Given the description of an element on the screen output the (x, y) to click on. 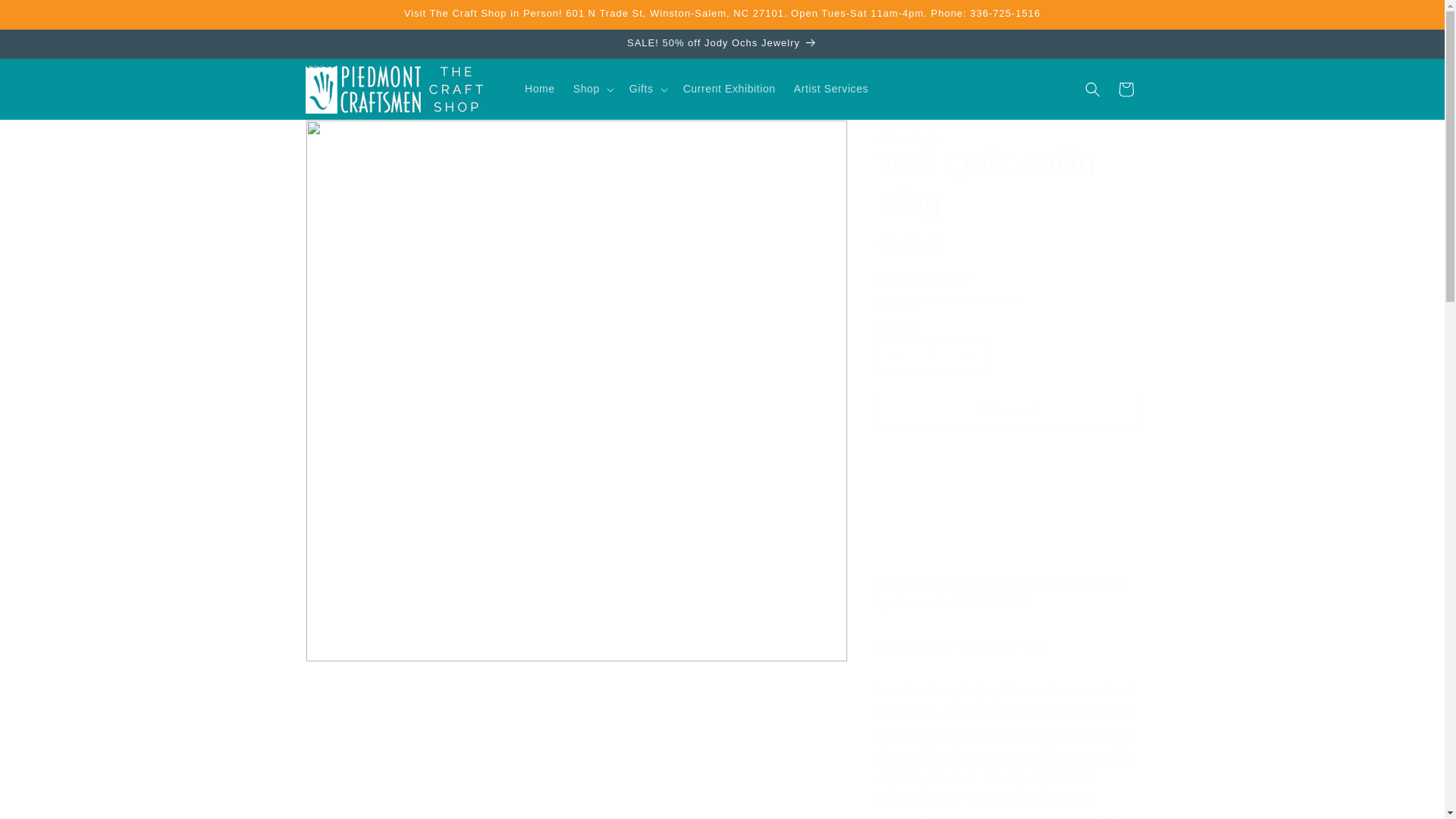
Artist Services (830, 88)
1 (931, 356)
Skip to content (45, 17)
Home (539, 88)
Current Exhibition (729, 88)
